Given the description of an element on the screen output the (x, y) to click on. 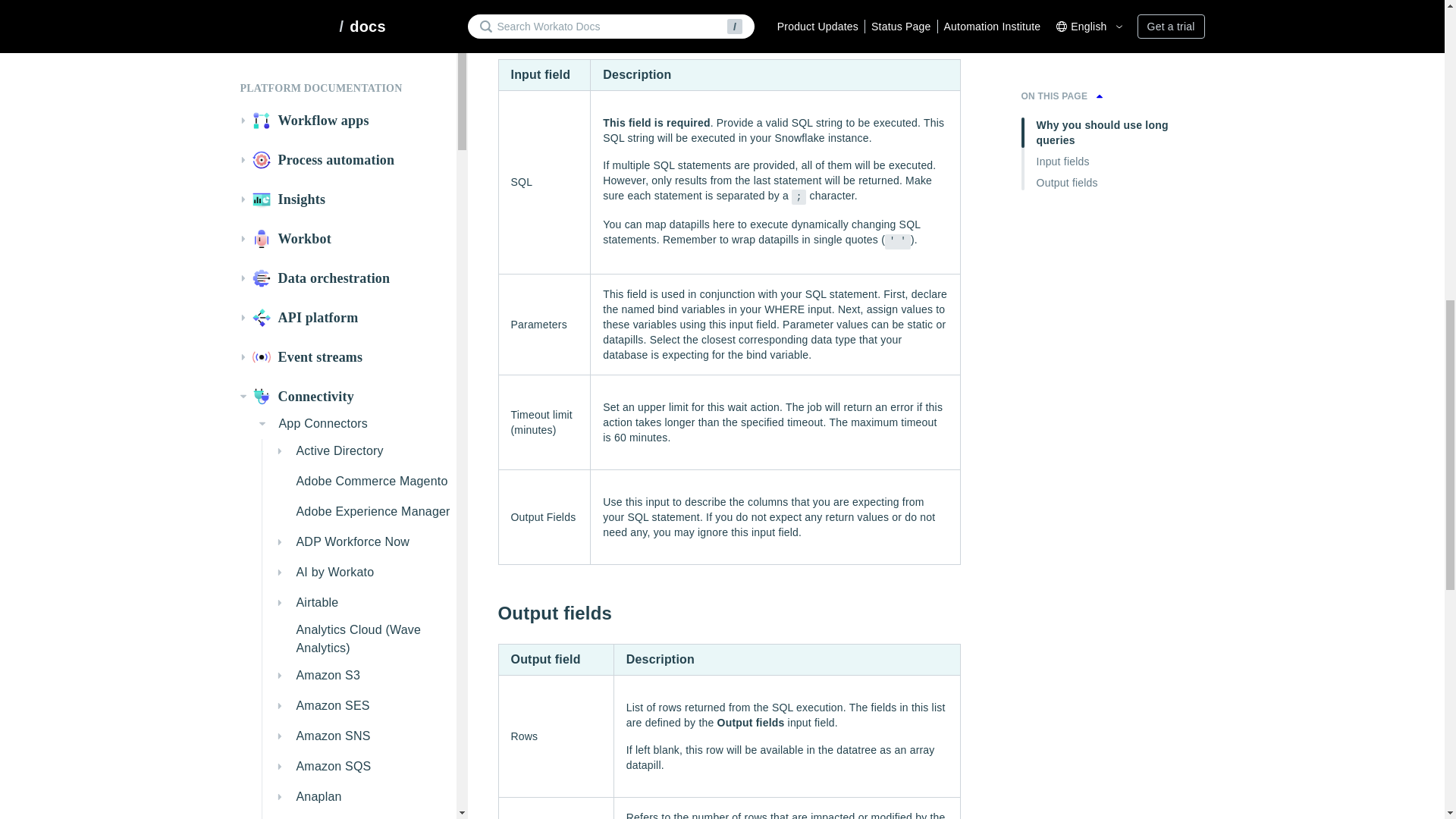
Asana (362, 64)
Anaplan (362, 8)
Apache Kafka (362, 34)
